Given the description of an element on the screen output the (x, y) to click on. 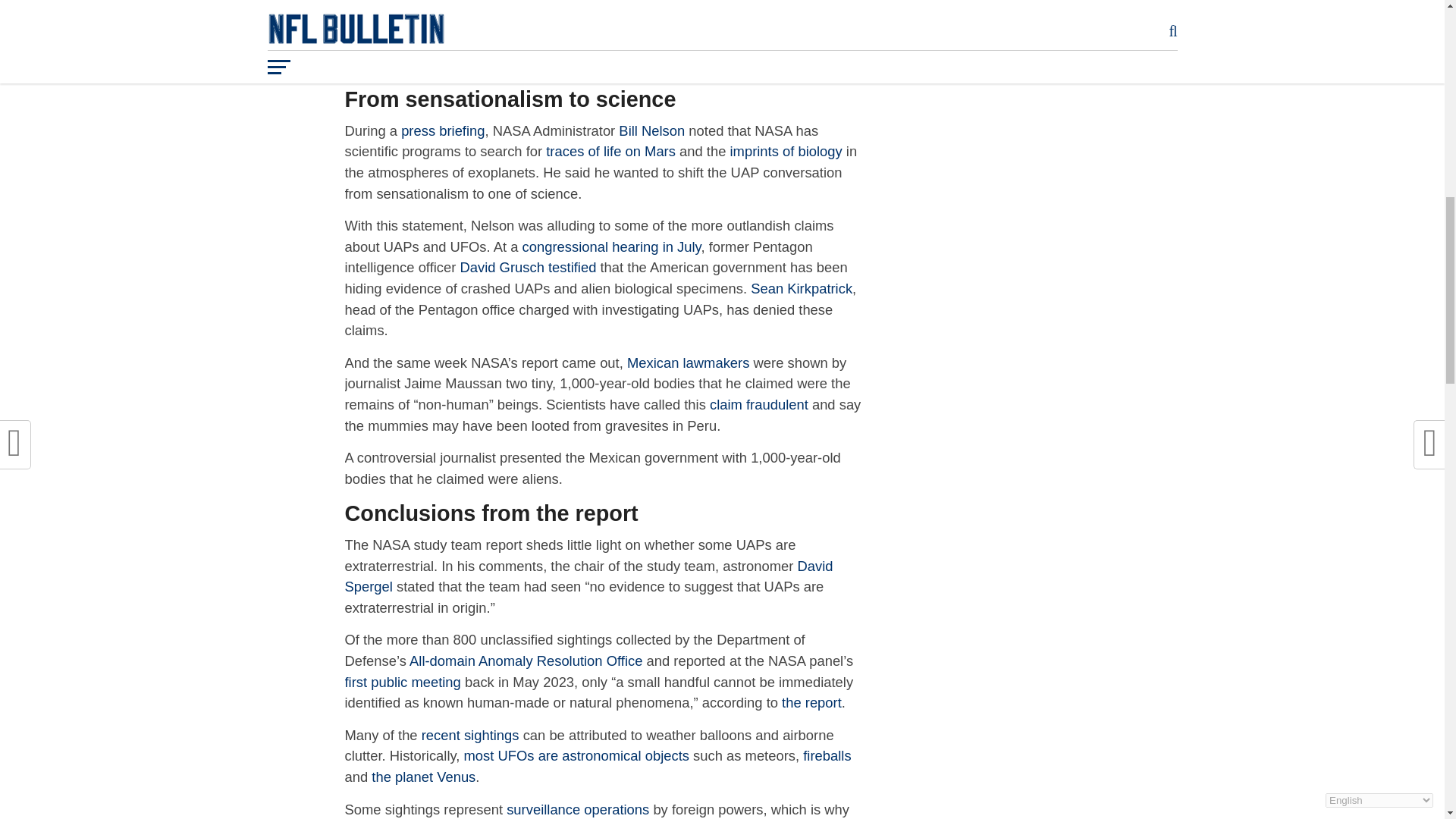
imprints of biology (786, 150)
astrobiology (755, 22)
scientists (372, 43)
Bill Nelson (651, 130)
congressional hearing in July (611, 246)
press briefing (442, 130)
professor of astronomy (449, 22)
David Grusch testified (527, 267)
traces of life on Mars (610, 150)
skeptical of the claim (794, 43)
